Given the description of an element on the screen output the (x, y) to click on. 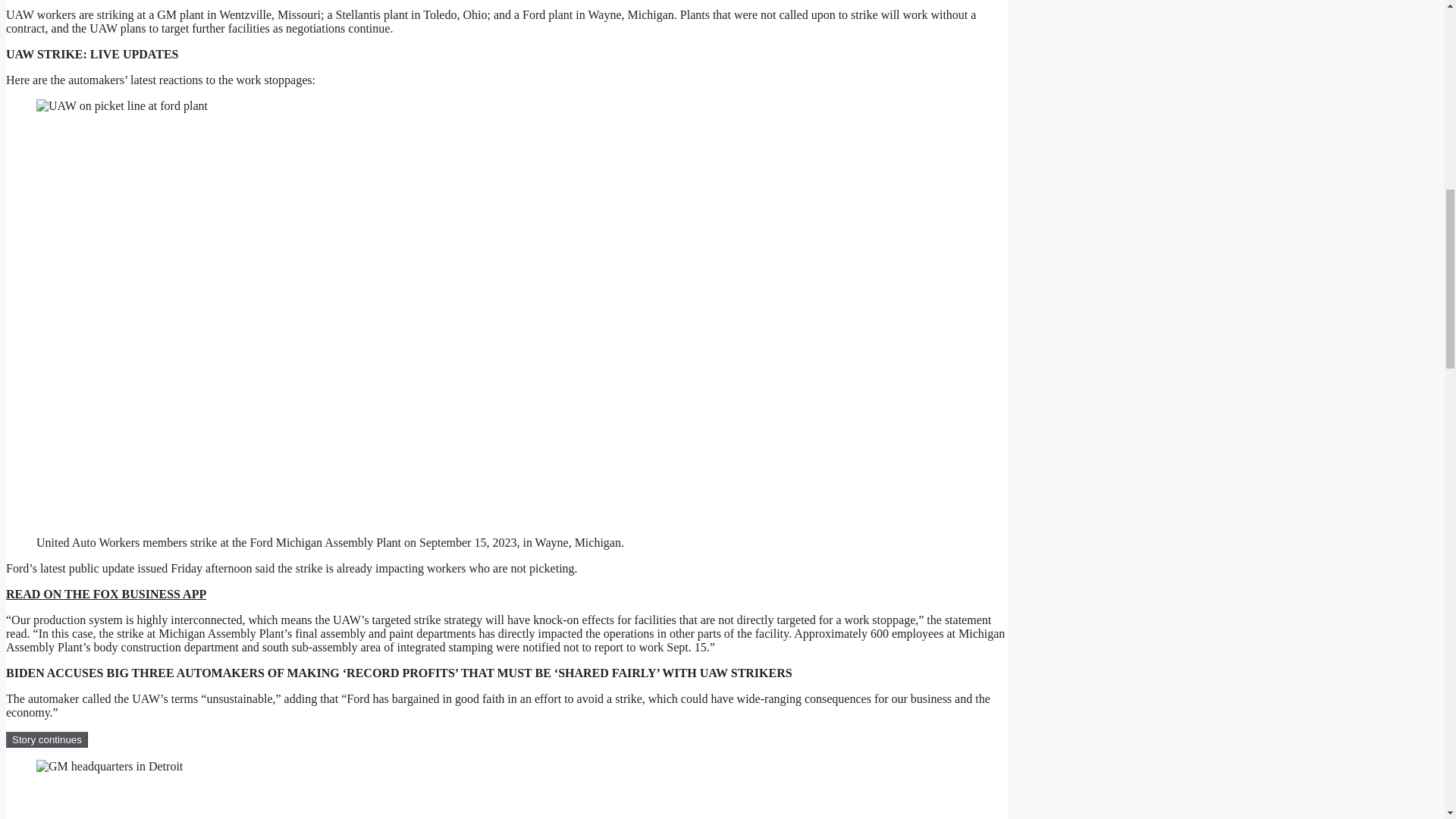
Scroll back to top (1406, 720)
Story continues (46, 739)
